Given the description of an element on the screen output the (x, y) to click on. 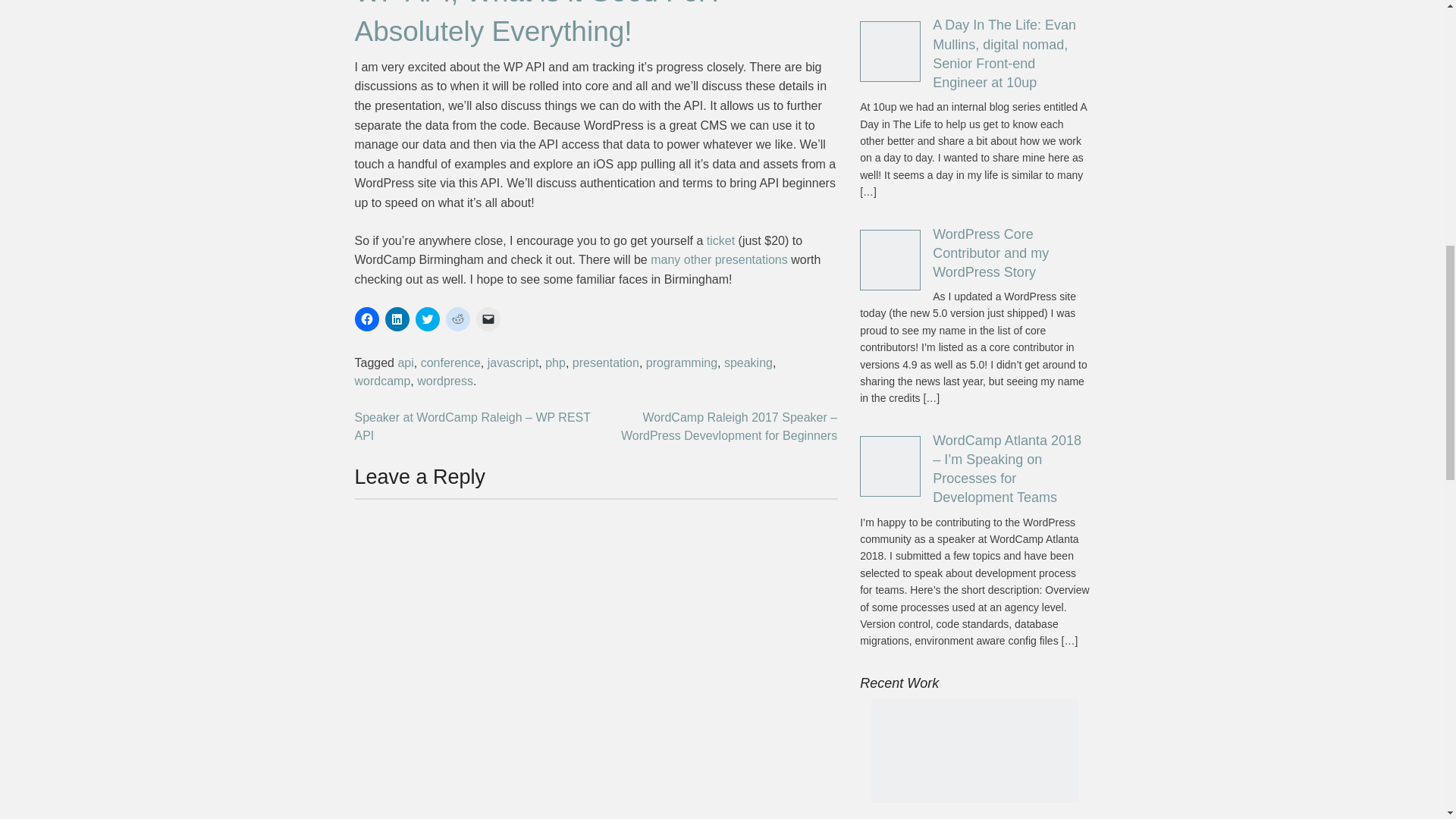
presentation (605, 362)
Click to share on Twitter (426, 319)
WordPress Core Contributor and my WordPress Story (990, 253)
Click to share on Reddit (457, 319)
speaking (748, 362)
Click to share on Facebook (366, 319)
ticket (720, 240)
wordcamp (382, 380)
